Given the description of an element on the screen output the (x, y) to click on. 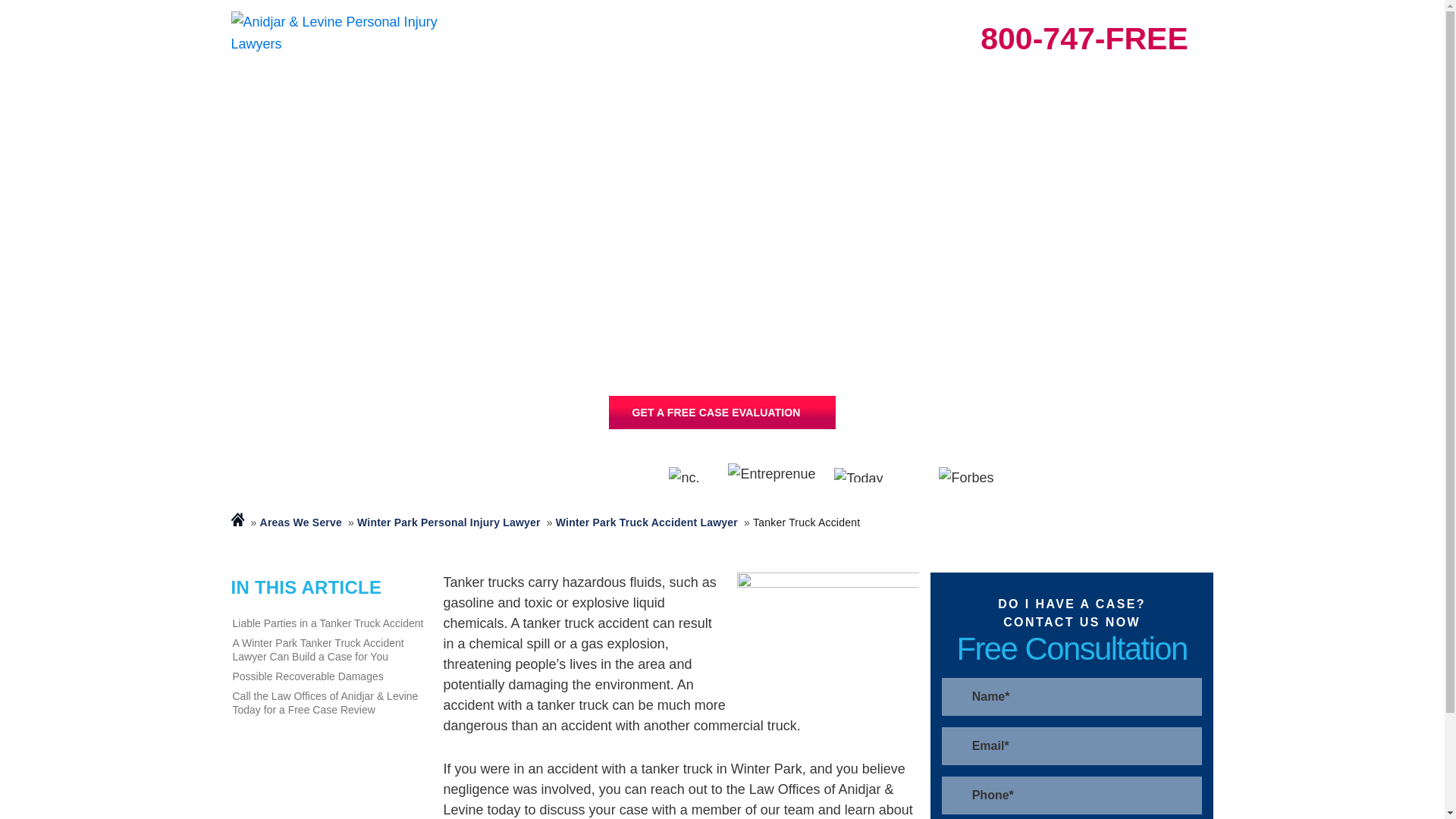
Forbes (971, 474)
Inc. (690, 474)
CONTACT (1175, 96)
AREAS WE SERVE (606, 96)
ABOUT (995, 96)
Possible Recoverable Damages (328, 676)
Today (878, 473)
800-747-FREE (1083, 38)
SPEAK TO AN ATTORNEY NOW  (721, 412)
Entreprenuer (773, 474)
WINTER PARK PRACTICE AREAS (326, 96)
REVIEWS (817, 96)
GET A FREE CASE EVALUATION (721, 412)
Liable Parties in a Tanker Truck Accident (328, 623)
